Given the description of an element on the screen output the (x, y) to click on. 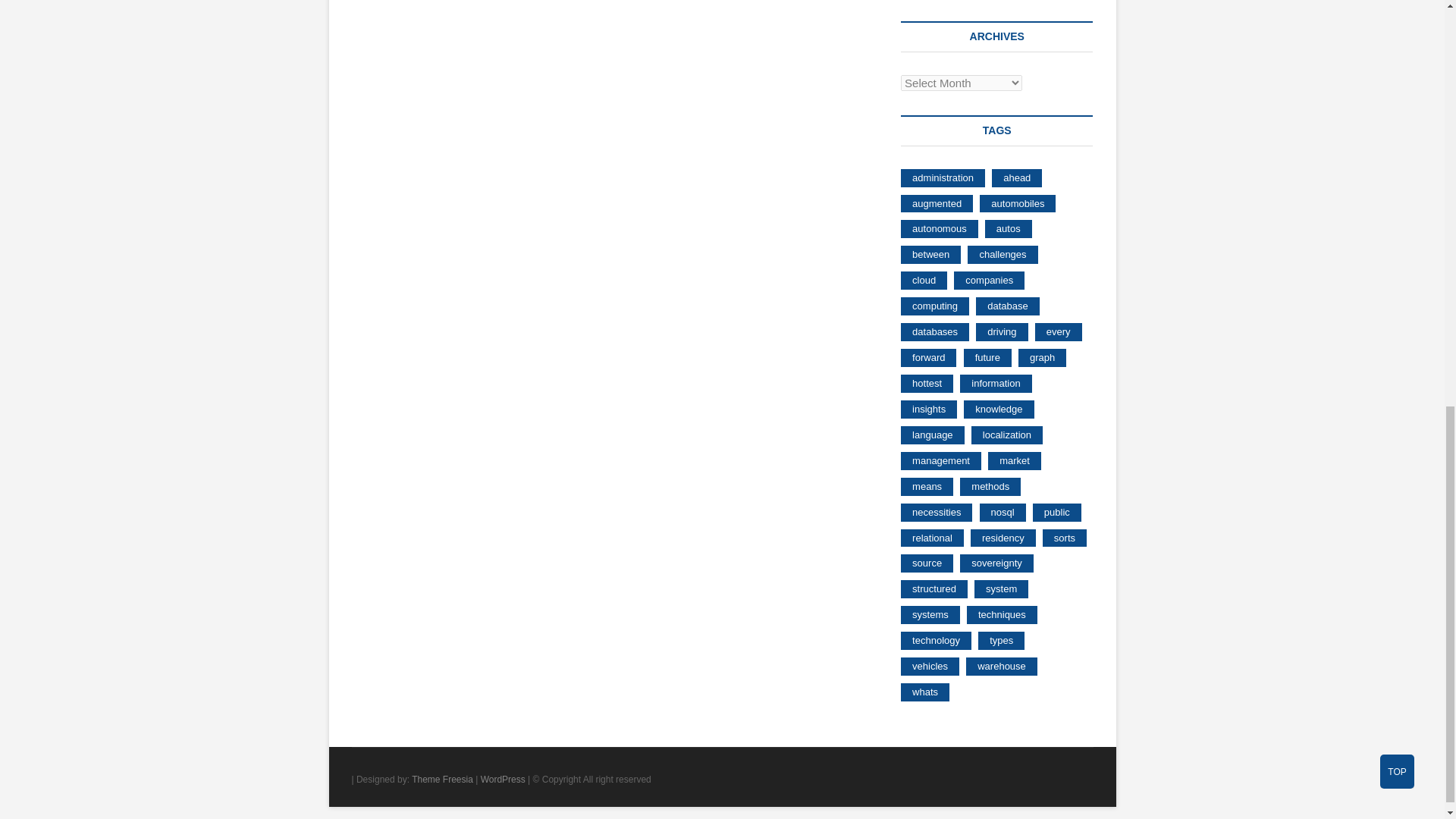
Theme Freesia (442, 778)
WordPress (502, 778)
